Given the description of an element on the screen output the (x, y) to click on. 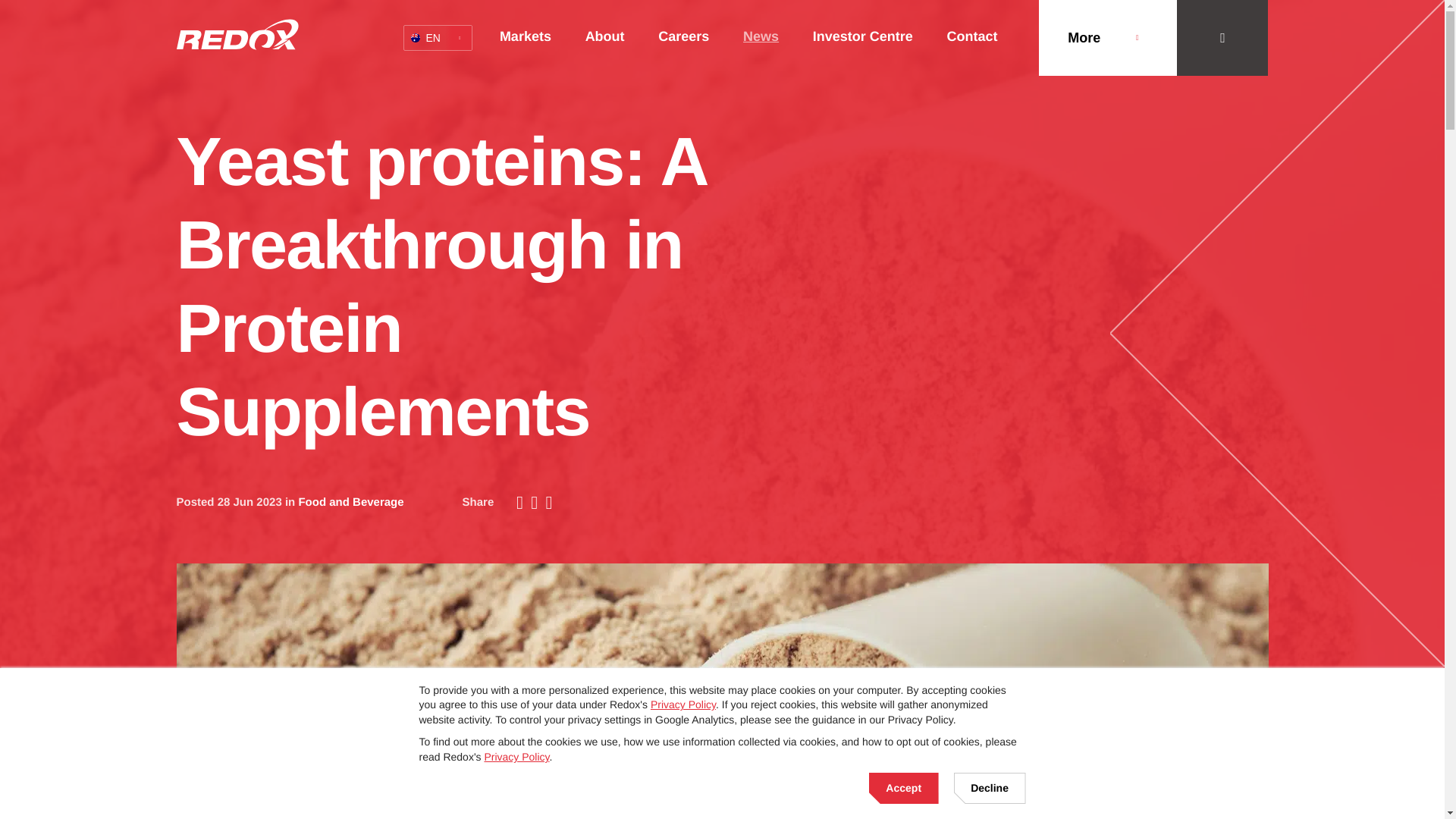
Toggle Navigation (1107, 38)
Toggle Search (437, 37)
Select Language (1222, 38)
Redox Homepage (437, 37)
Redox (237, 33)
Investor Centre (237, 33)
